Given the description of an element on the screen output the (x, y) to click on. 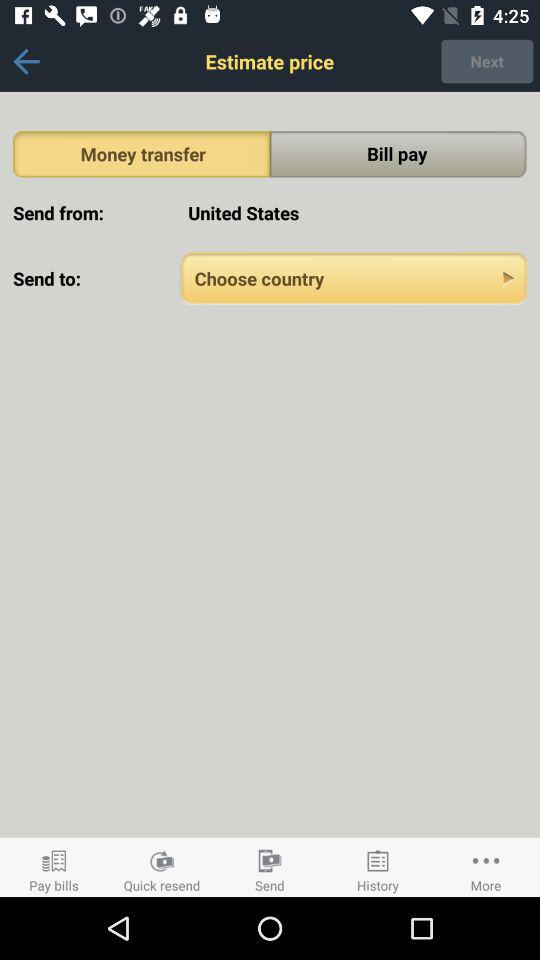
open the icon next to the estimate price (26, 61)
